Given the description of an element on the screen output the (x, y) to click on. 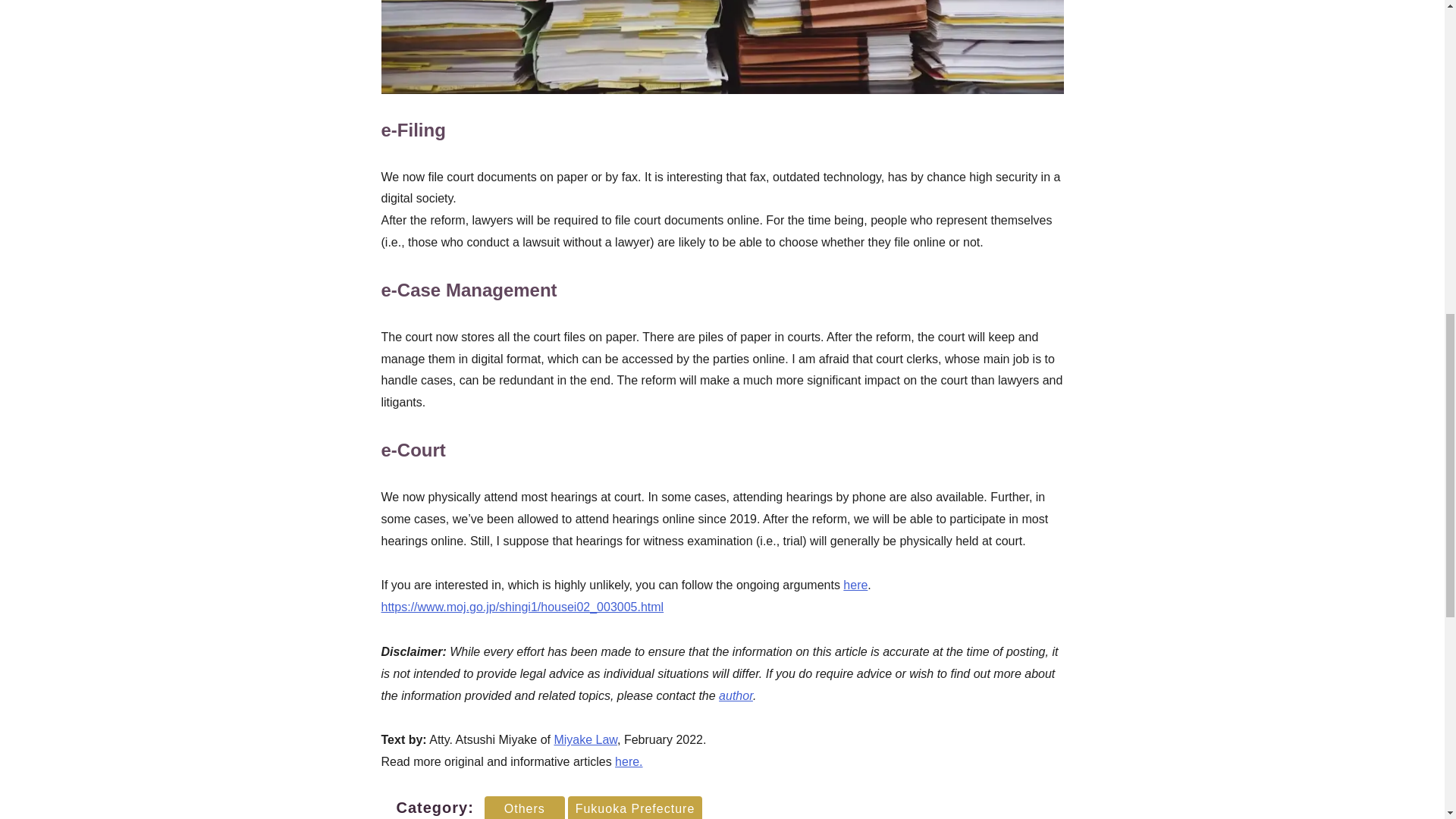
author (735, 695)
Miyake Law (585, 739)
here (855, 584)
